Given the description of an element on the screen output the (x, y) to click on. 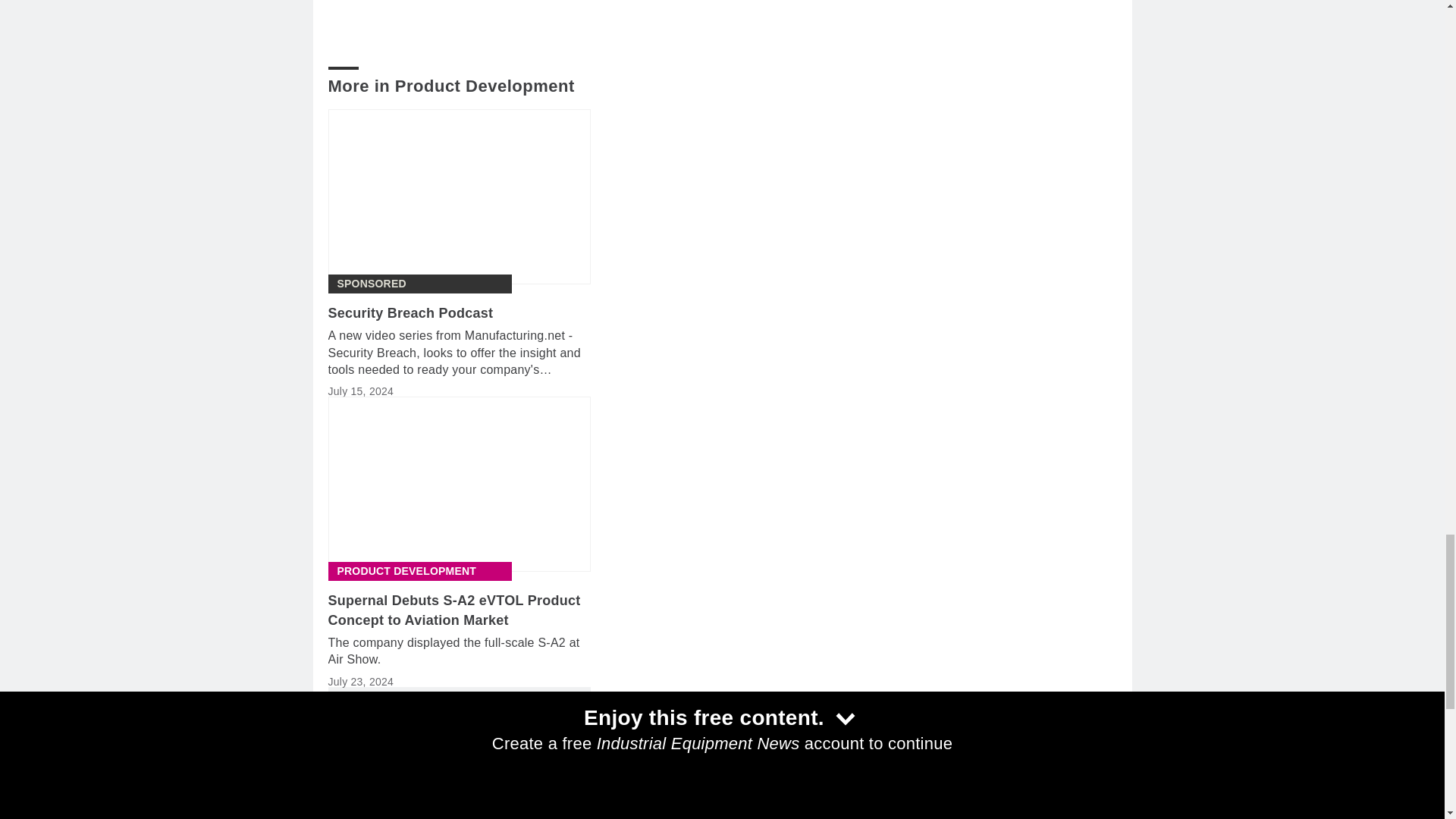
Sponsored (371, 283)
Product Development (406, 571)
